Given the description of an element on the screen output the (x, y) to click on. 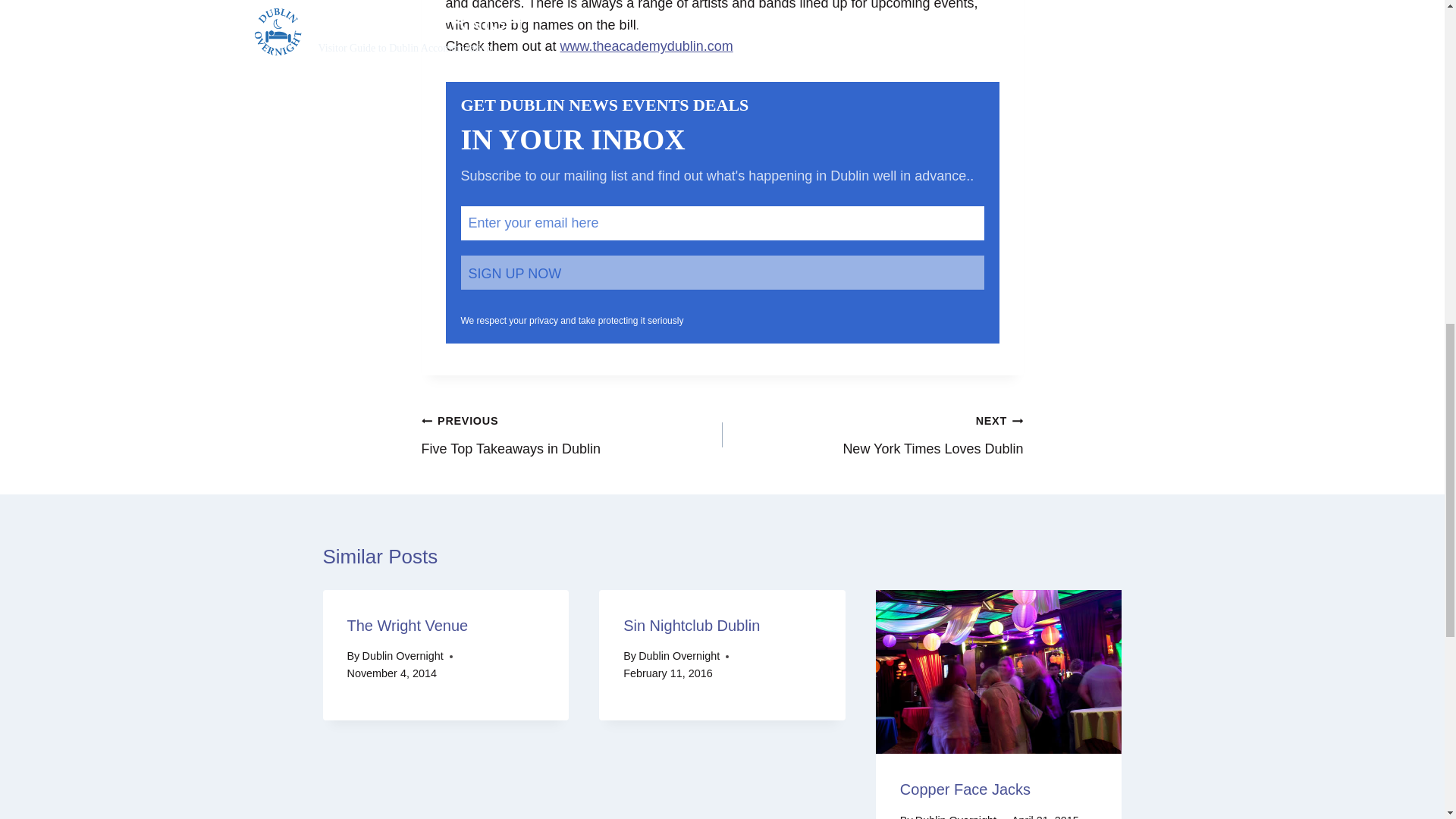
The Wright Venue (407, 625)
Sin Nightclub Dublin (691, 625)
www.theacademydublin.com (646, 46)
Dublin Overnight (401, 655)
Sign Up Now (572, 434)
Sign Up Now (722, 272)
The Academy Nightclub Dublin (722, 272)
